Given the description of an element on the screen output the (x, y) to click on. 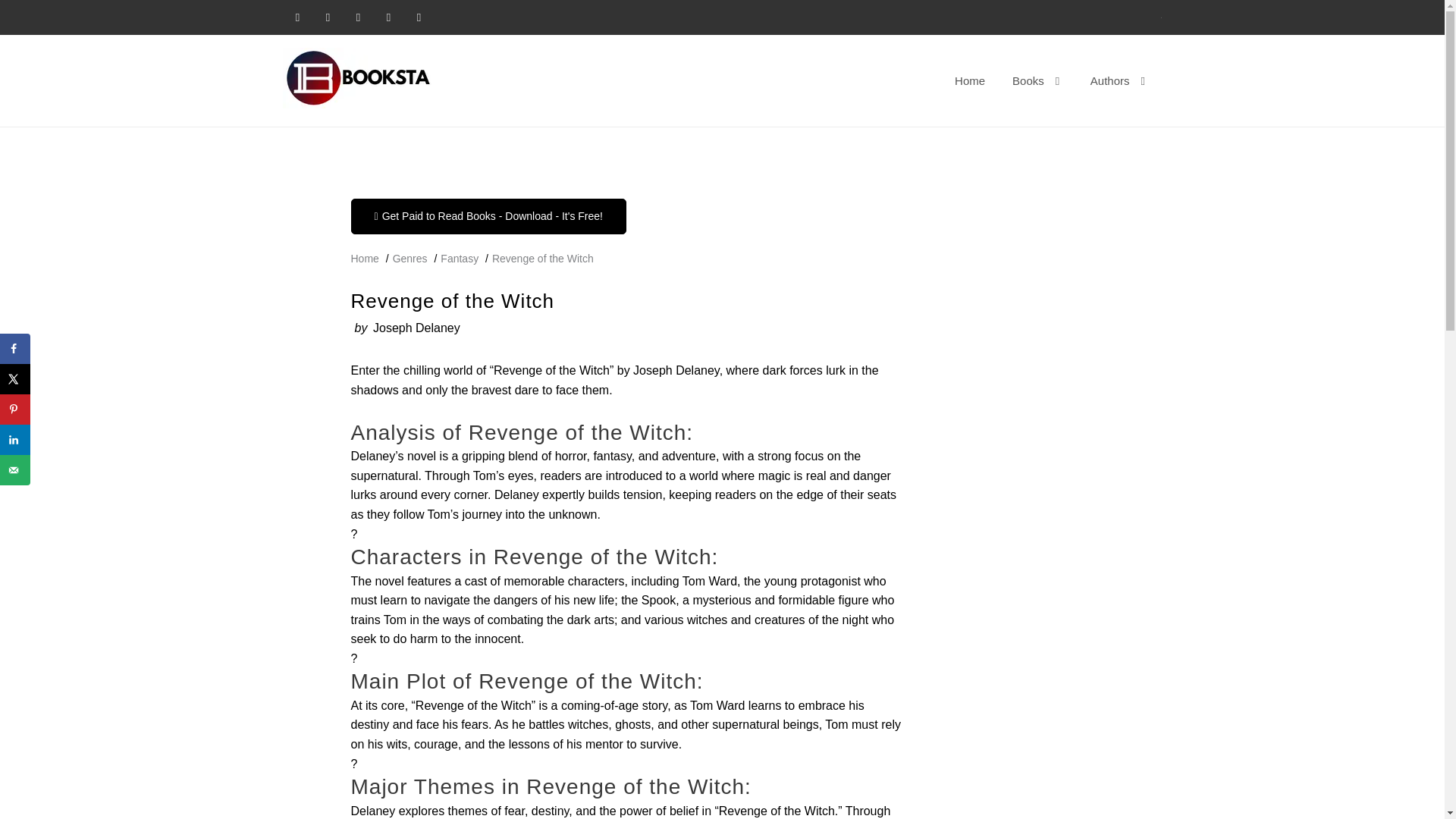
Home (364, 258)
Genres (410, 258)
Revenge of the Witch (543, 258)
Get Paid to Read Books - Download - It's Free! (488, 216)
Share on Facebook (15, 348)
Save to Pinterest (15, 409)
Fantasy (460, 258)
Books (1037, 81)
Genres (410, 258)
Home (364, 258)
Share on LinkedIn (15, 440)
Joseph Delaney (416, 327)
Home (969, 81)
Fantasy (460, 258)
Share on X (15, 378)
